Given the description of an element on the screen output the (x, y) to click on. 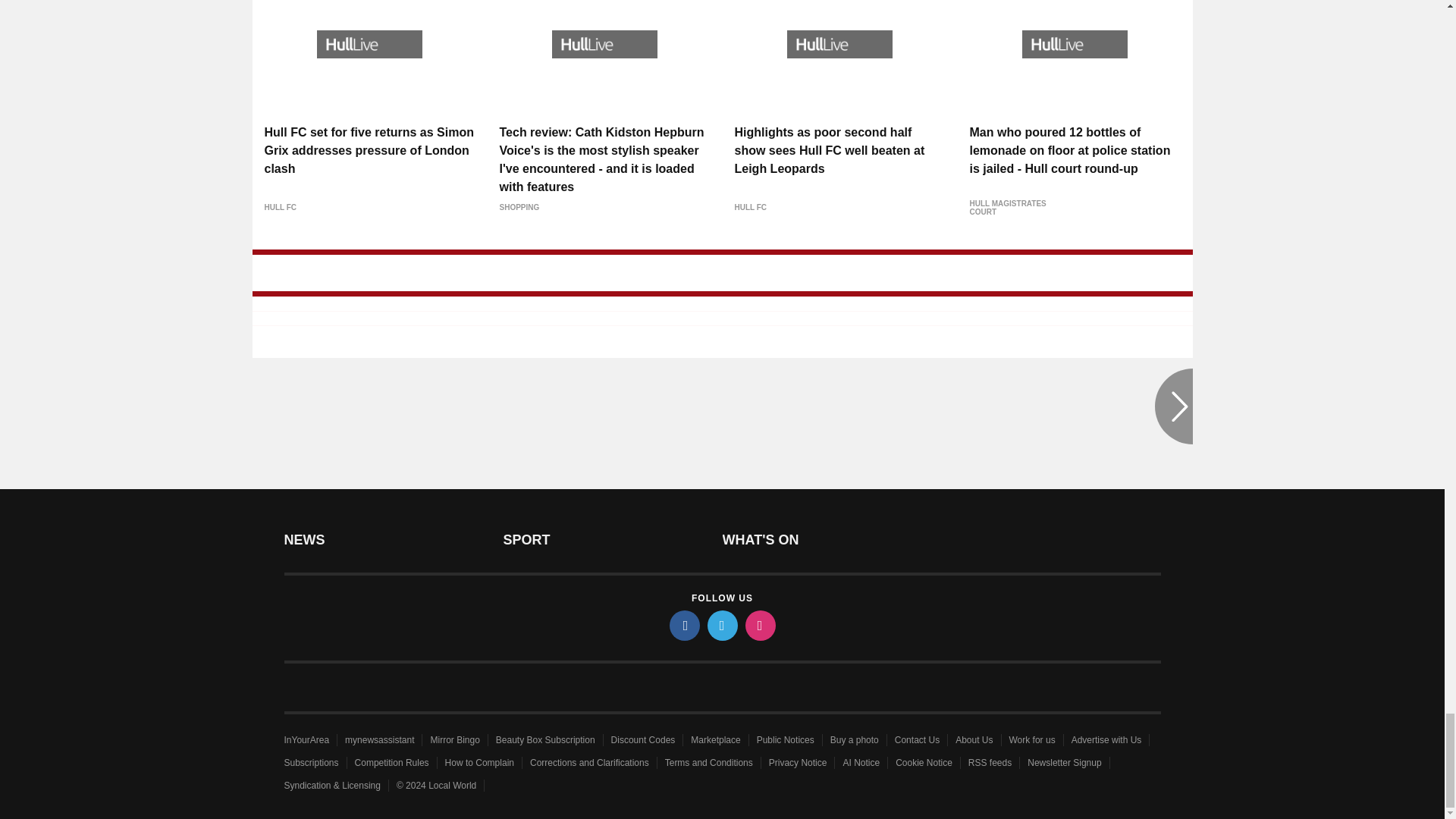
facebook (683, 625)
twitter (721, 625)
instagram (759, 625)
